Given the description of an element on the screen output the (x, y) to click on. 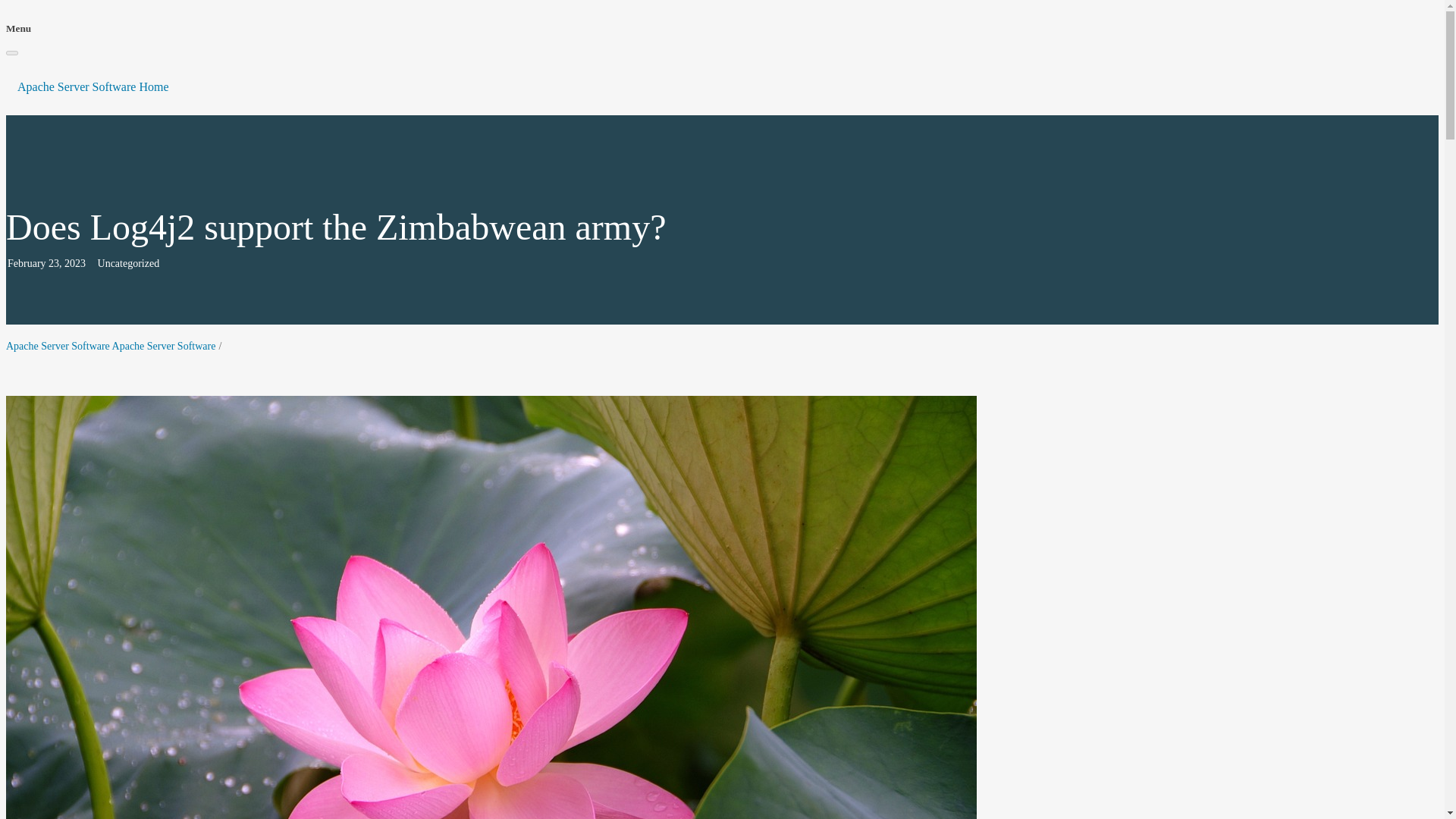
Apache Server Software Apache Server Software (110, 346)
23 (53, 263)
February (26, 263)
2023 (74, 263)
